Given the description of an element on the screen output the (x, y) to click on. 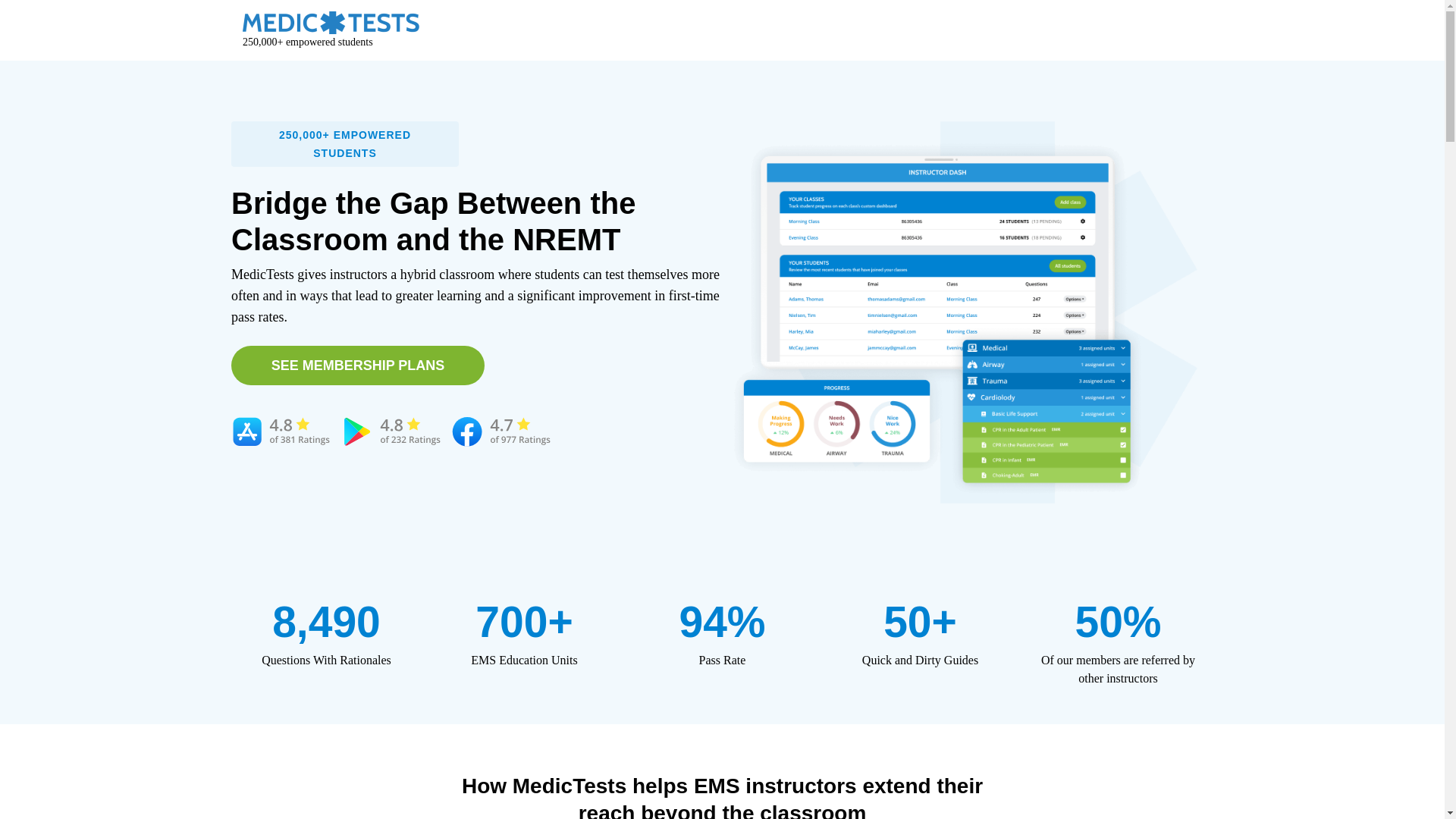
SEE MEMBERSHIP PLANS (357, 364)
SEE MEMBERSHIP PLANS (357, 364)
